Given the description of an element on the screen output the (x, y) to click on. 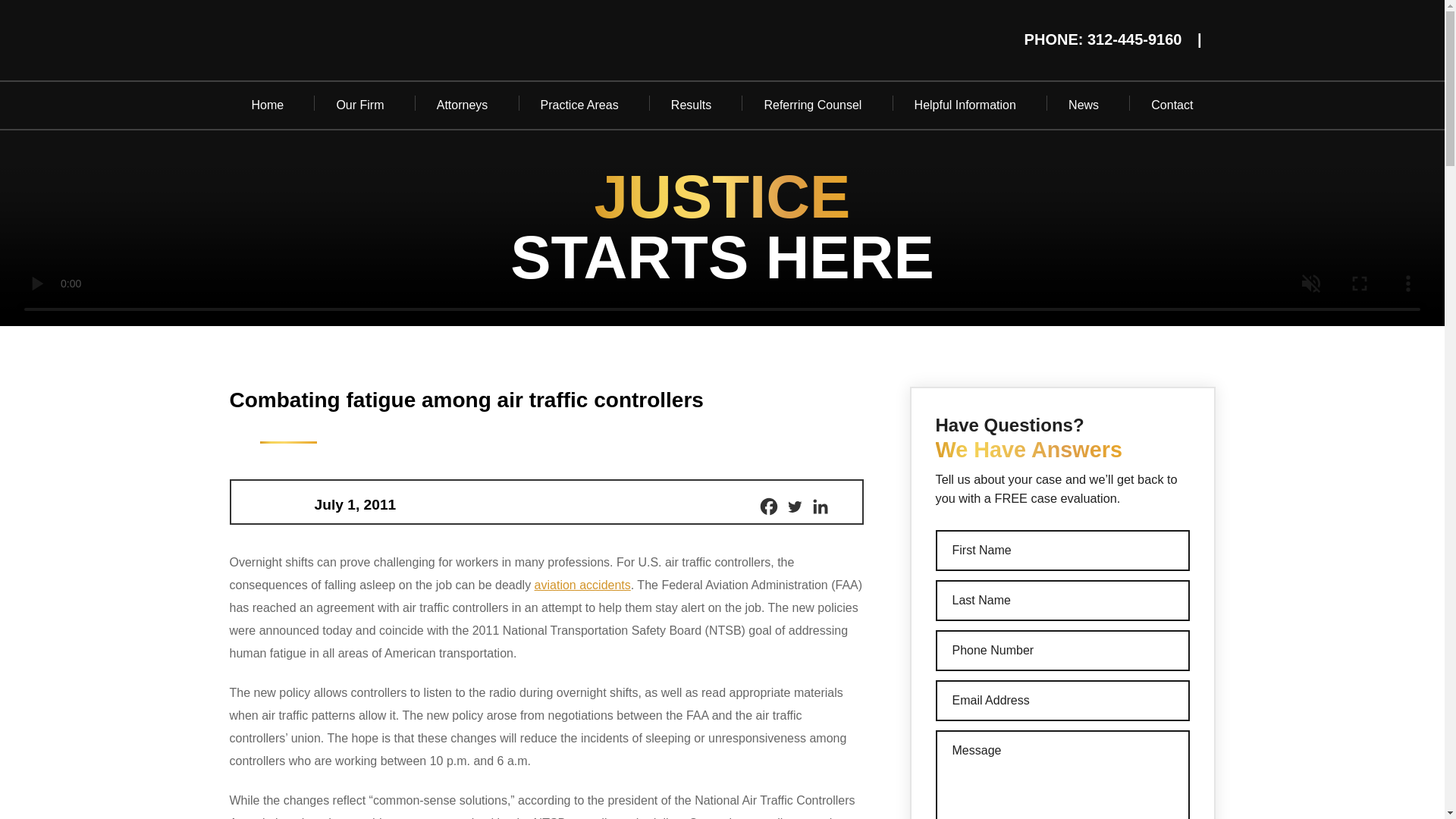
Attorneys (462, 105)
Practice Areas (579, 105)
Home (266, 105)
Linkedin (819, 506)
News (1083, 105)
Results (691, 105)
Contact (1171, 105)
312-445-9160 (1134, 39)
Helpful Information (965, 105)
Our Firm (360, 105)
Referring Counsel (812, 105)
Twitter (794, 506)
aviation accidents (582, 584)
Facebook (767, 506)
